Given the description of an element on the screen output the (x, y) to click on. 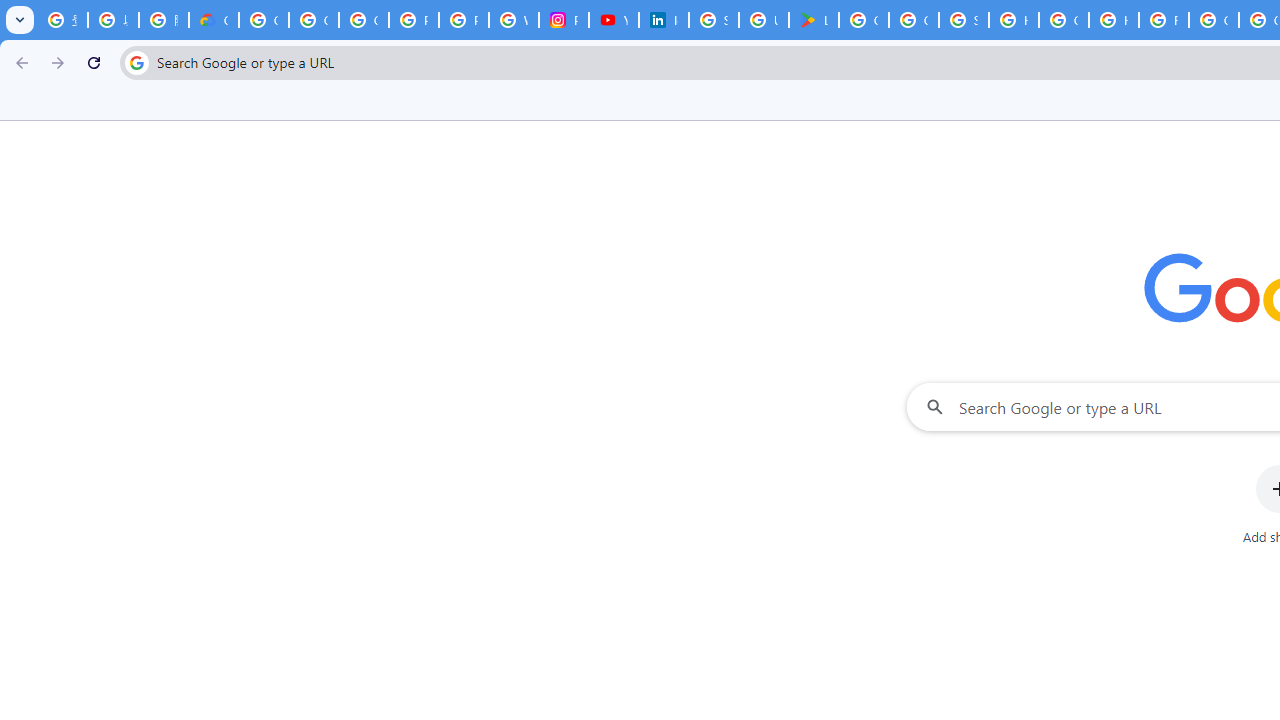
System (10, 11)
Last Shelter: Survival - Apps on Google Play (813, 20)
YouTube Culture & Trends - On The Rise: Handcam Videos (613, 20)
Google Workspace - Specific Terms (914, 20)
How do I create a new Google Account? - Google Account Help (1114, 20)
Identity verification via Persona | LinkedIn Help (663, 20)
Search icon (136, 62)
Sign in - Google Accounts (964, 20)
